Given the description of an element on the screen output the (x, y) to click on. 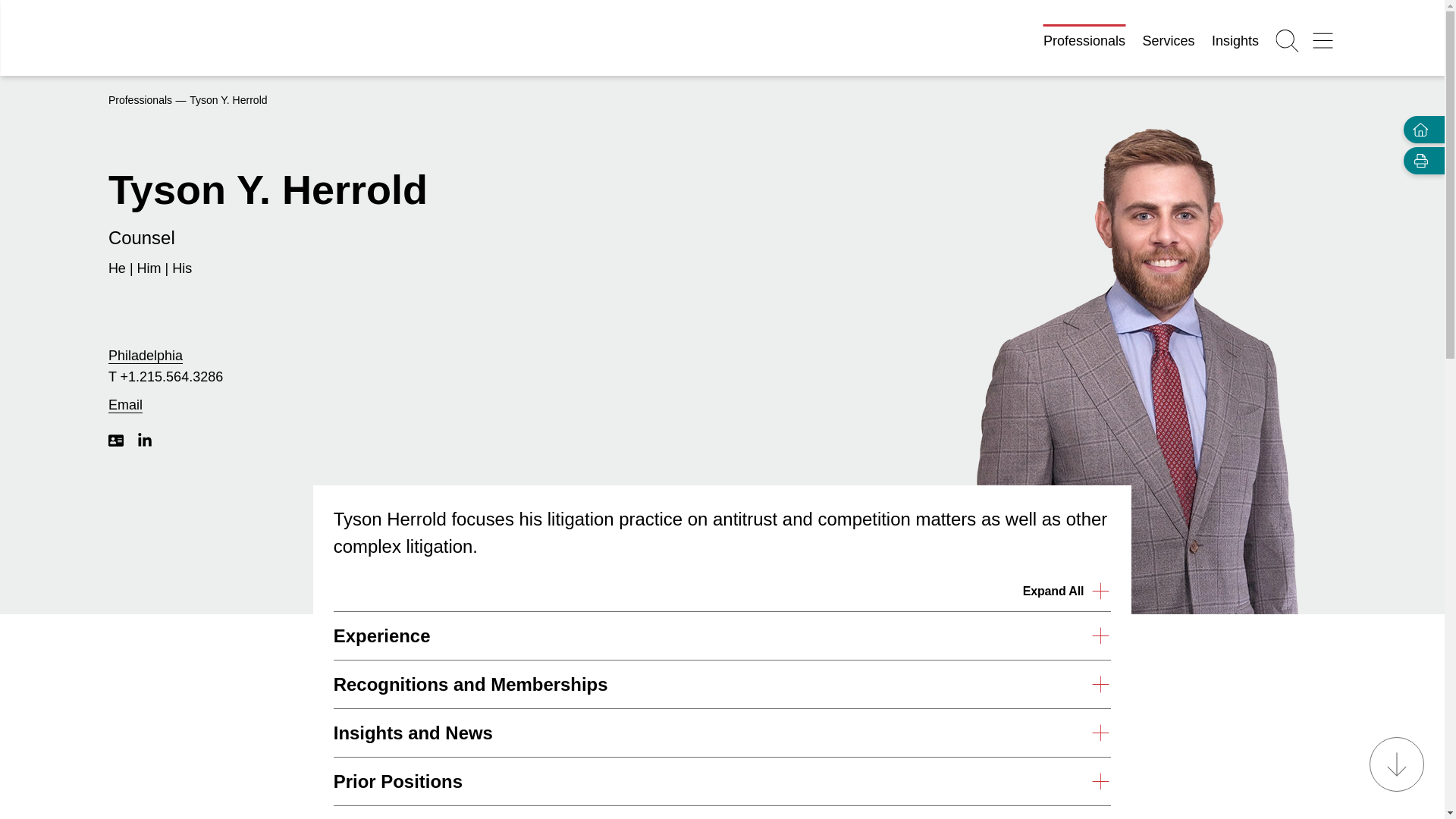
Credentials (722, 812)
Email (124, 405)
Experience (722, 636)
Professionals (139, 100)
LinkedIn (144, 440)
Home (1417, 129)
Recognitions and Memberships (722, 684)
Insights and News (722, 733)
Prior Positions (722, 781)
Services (1168, 40)
Professionals (1084, 40)
Philadelphia (145, 355)
Insights and News (722, 732)
Insights (1235, 40)
